Given the description of an element on the screen output the (x, y) to click on. 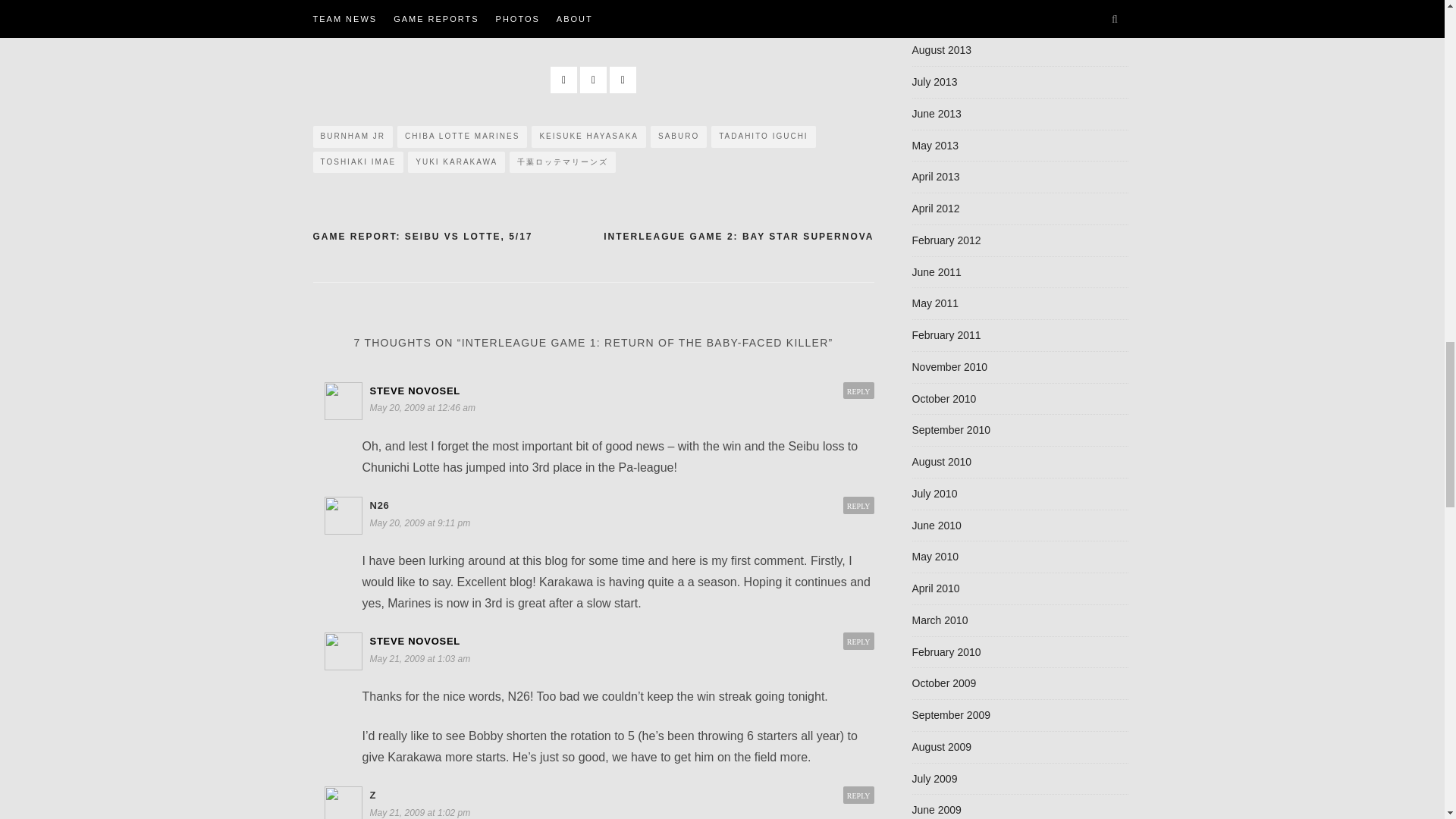
STEVE NOVOSEL (415, 390)
REPLY (859, 391)
STEVE NOVOSEL (415, 641)
CHIBA LOTTE MARINES (462, 136)
REPLY (859, 505)
SABURO (678, 136)
REPLY (859, 795)
BURNHAM JR (353, 136)
REPLY (859, 641)
YUKI KARAKAWA (456, 161)
